Given the description of an element on the screen output the (x, y) to click on. 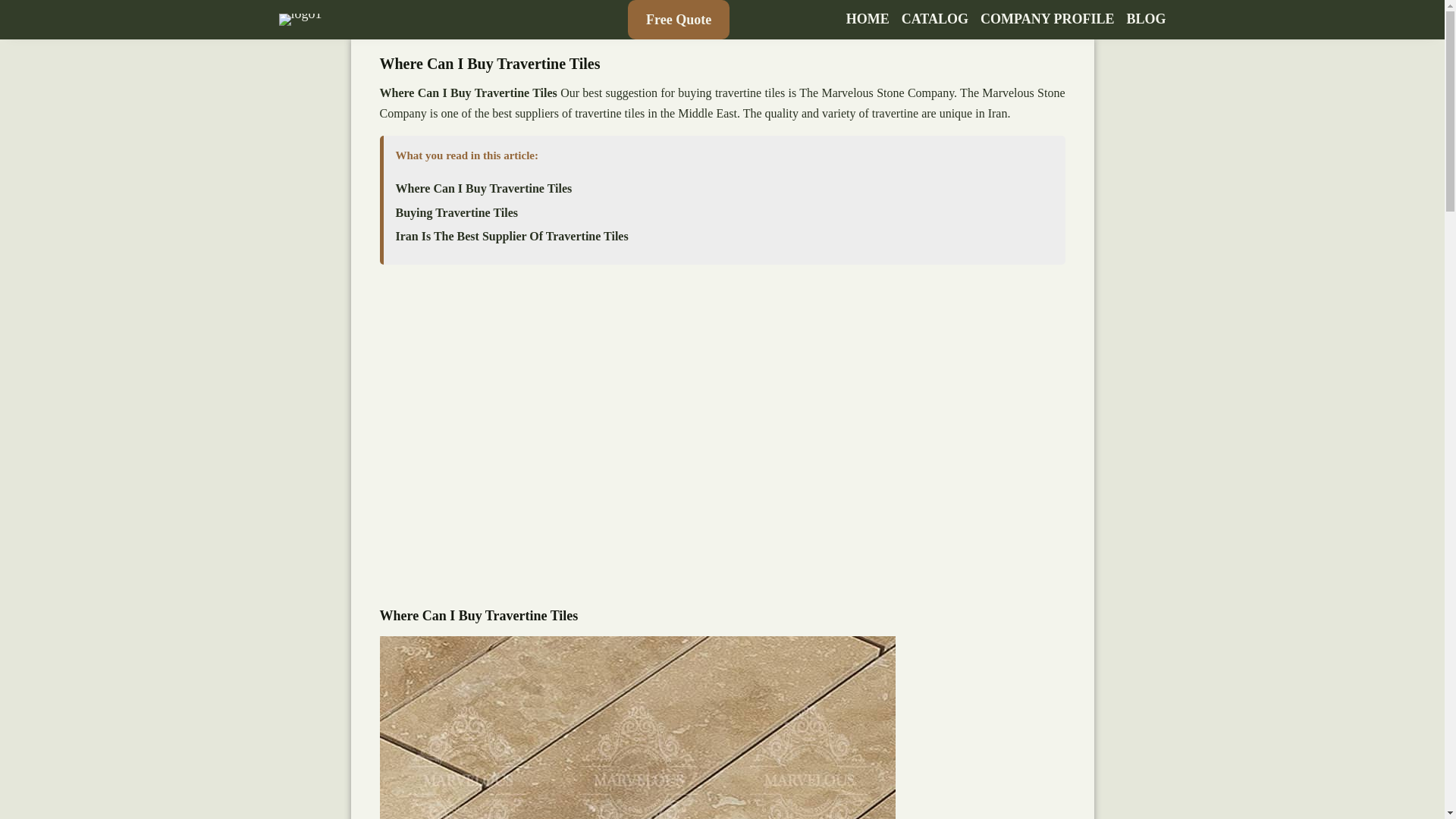
Where Can I Buy Travertine Tiles (484, 188)
Iran Is The Best Supplier Of Travertine Tiles (512, 236)
COMPANY PROFILE (1046, 19)
BLOG (1145, 19)
HOME (867, 19)
Buying Travertine Tiles (457, 213)
Free Quote (678, 19)
CATALOG (934, 19)
